Given the description of an element on the screen output the (x, y) to click on. 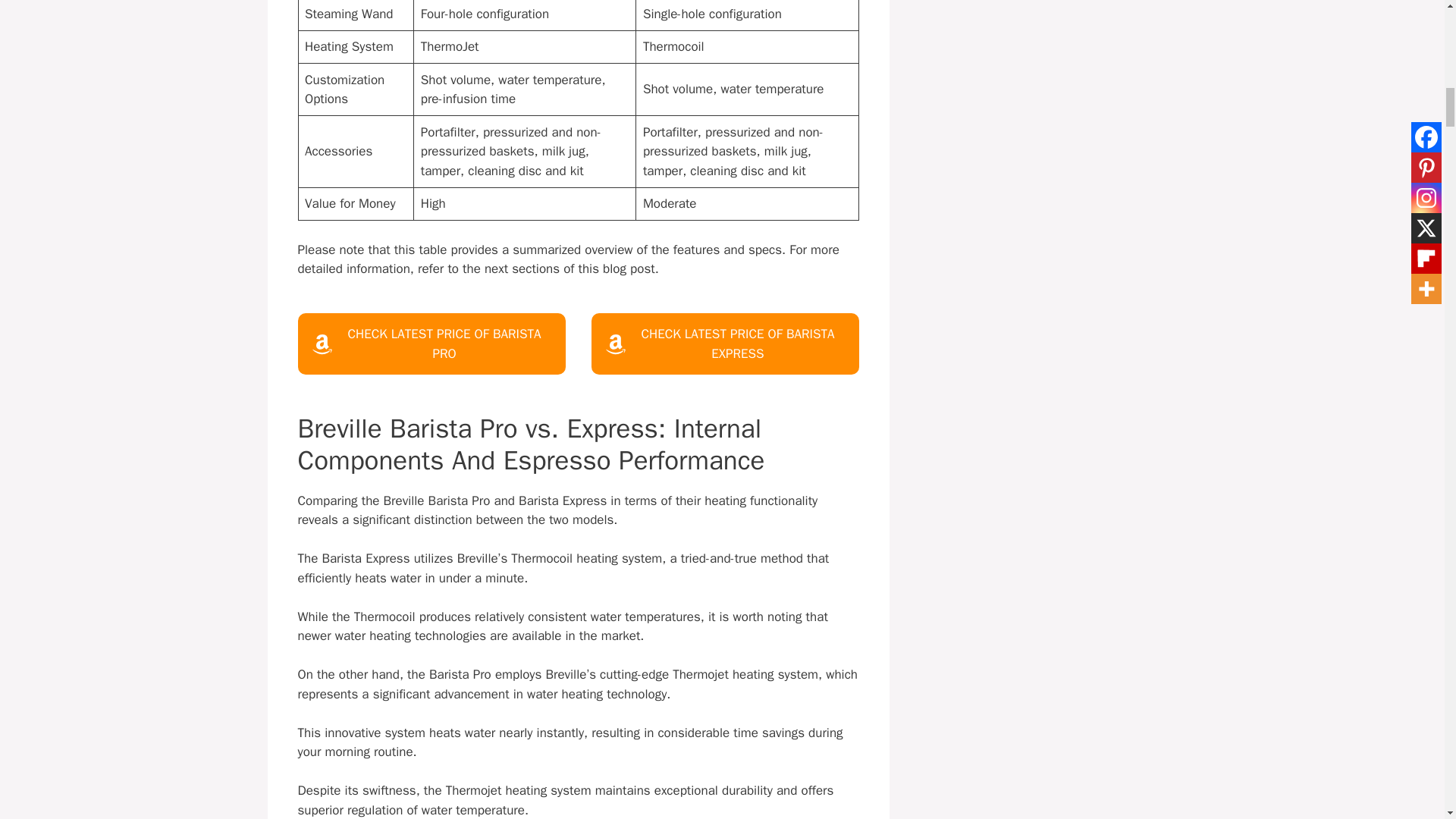
CHECK LATEST PRICE OF BARISTA EXPRESS (725, 343)
CHECK LATEST PRICE OF BARISTA PRO (430, 343)
